Given the description of an element on the screen output the (x, y) to click on. 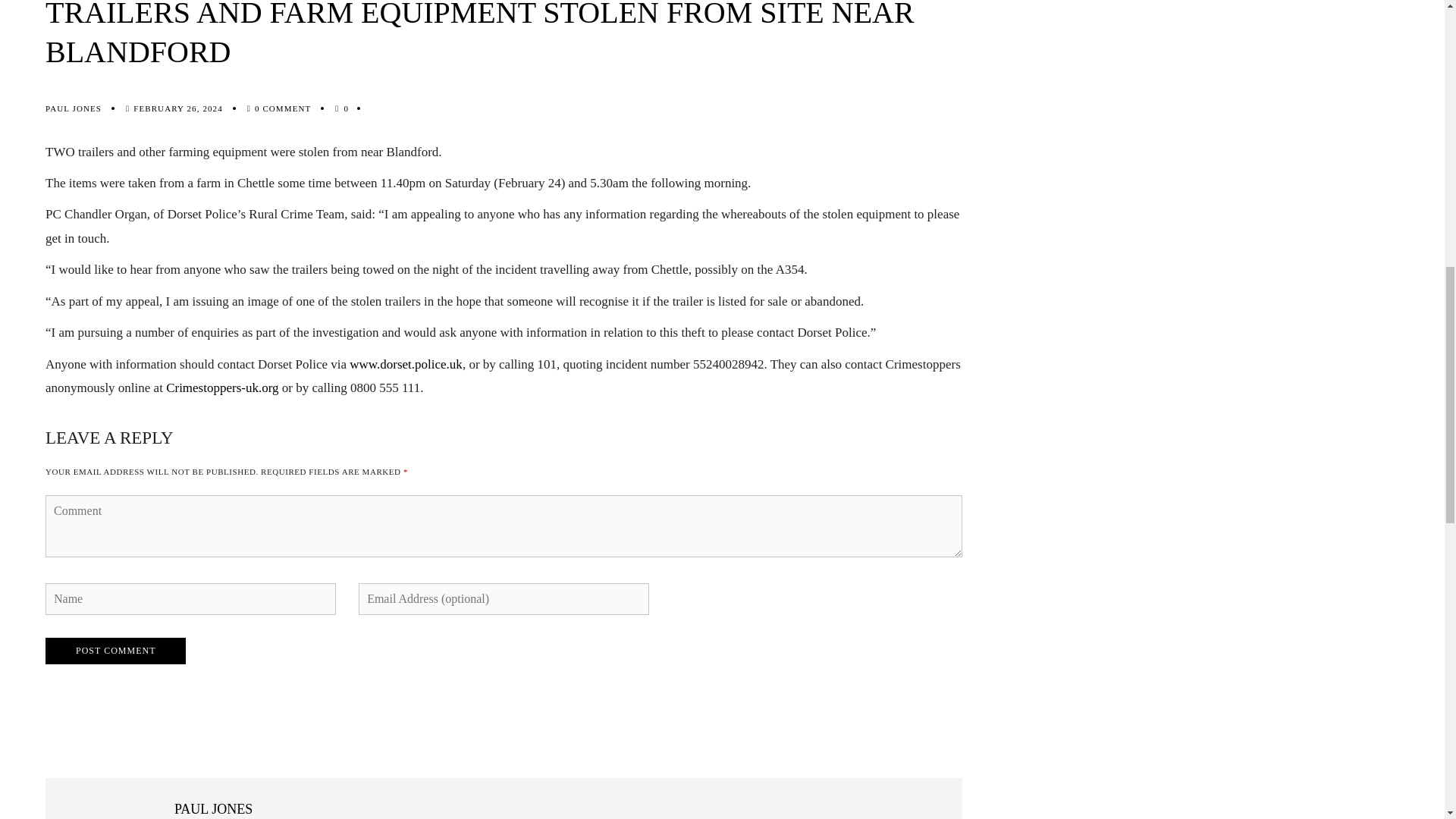
Like (345, 108)
Post Comment (115, 651)
Posts by Paul Jones (73, 108)
